Given the description of an element on the screen output the (x, y) to click on. 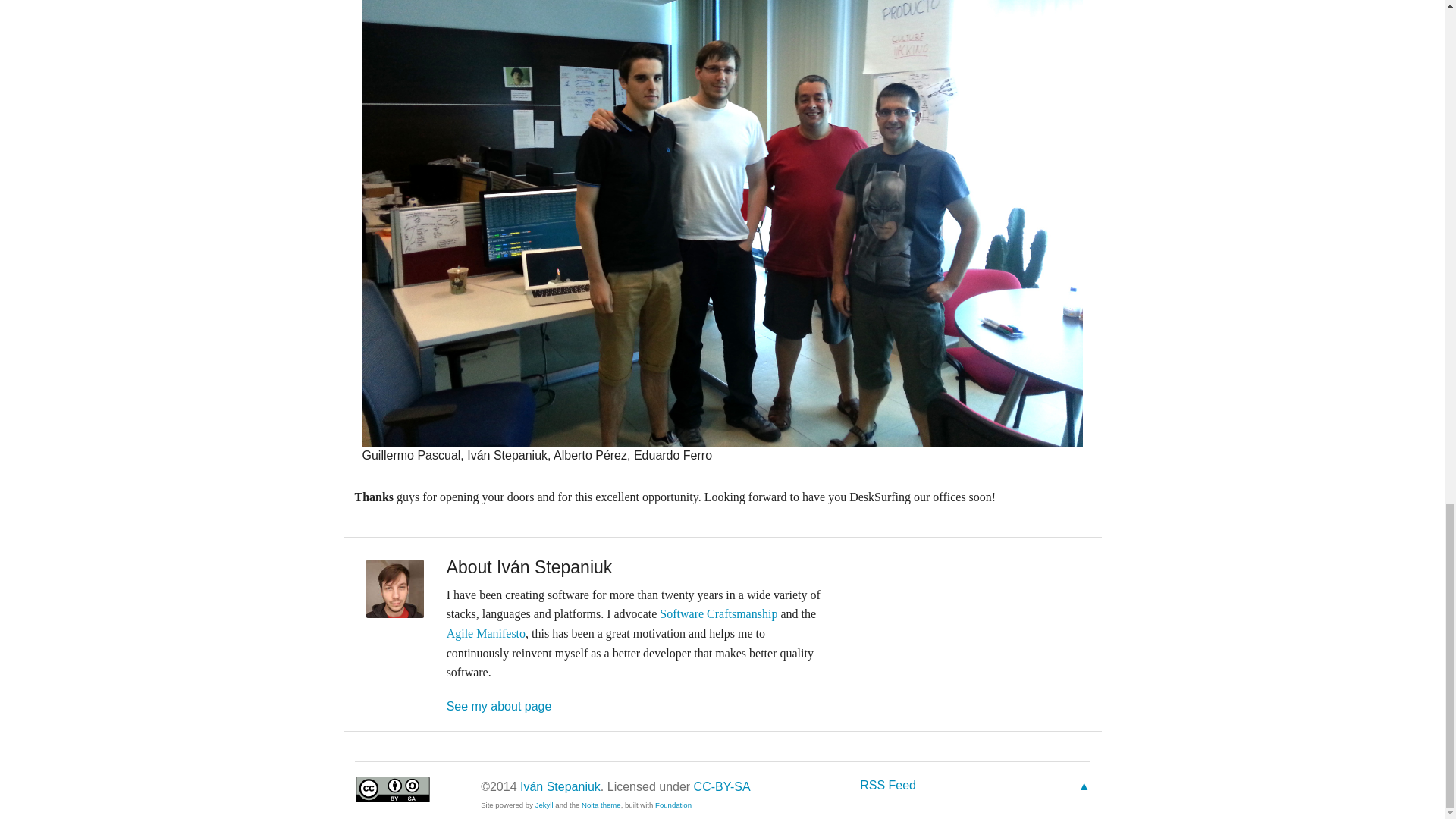
Agile Manifesto (485, 633)
Noita theme (600, 804)
Jekyll (544, 804)
See my about page (498, 706)
CC-BY-SA (722, 786)
RSS Feed (887, 784)
Software Craftsmanship (718, 613)
Foundation (673, 804)
